Given the description of an element on the screen output the (x, y) to click on. 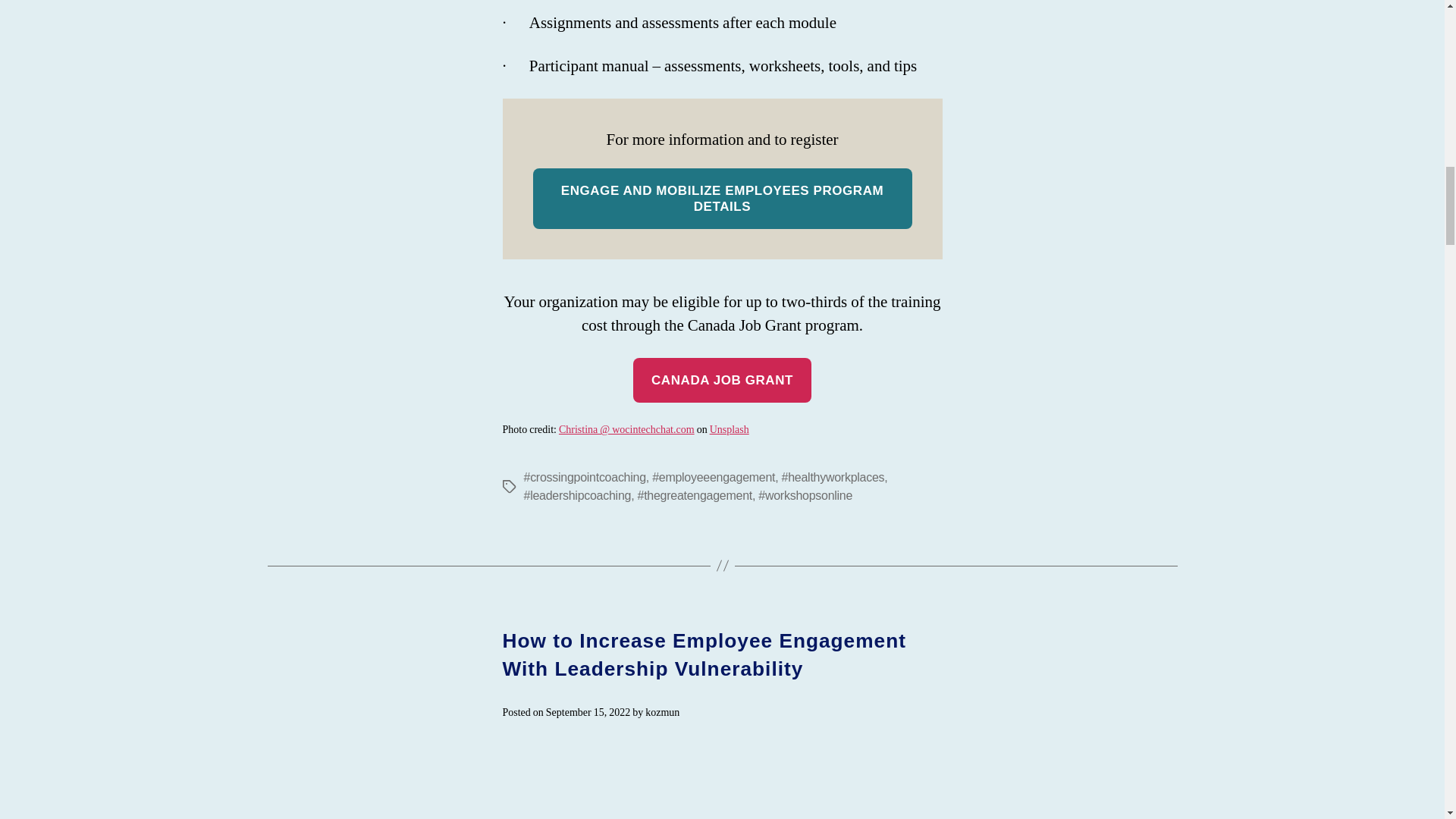
ENGAGE AND MOBILIZE EMPLOYEES PROGRAM DETAILS (721, 198)
